Given the description of an element on the screen output the (x, y) to click on. 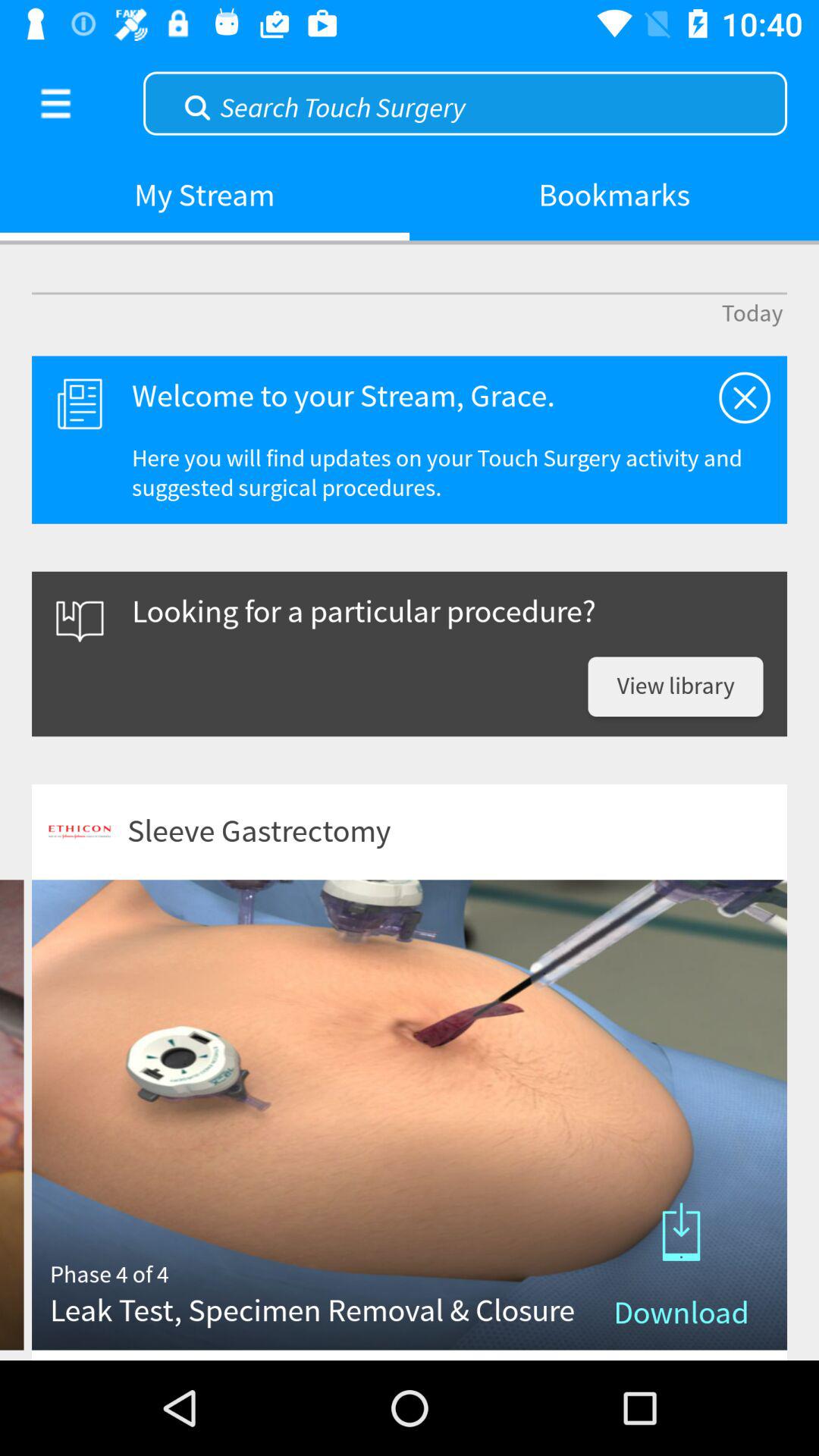
search here (465, 102)
